Given the description of an element on the screen output the (x, y) to click on. 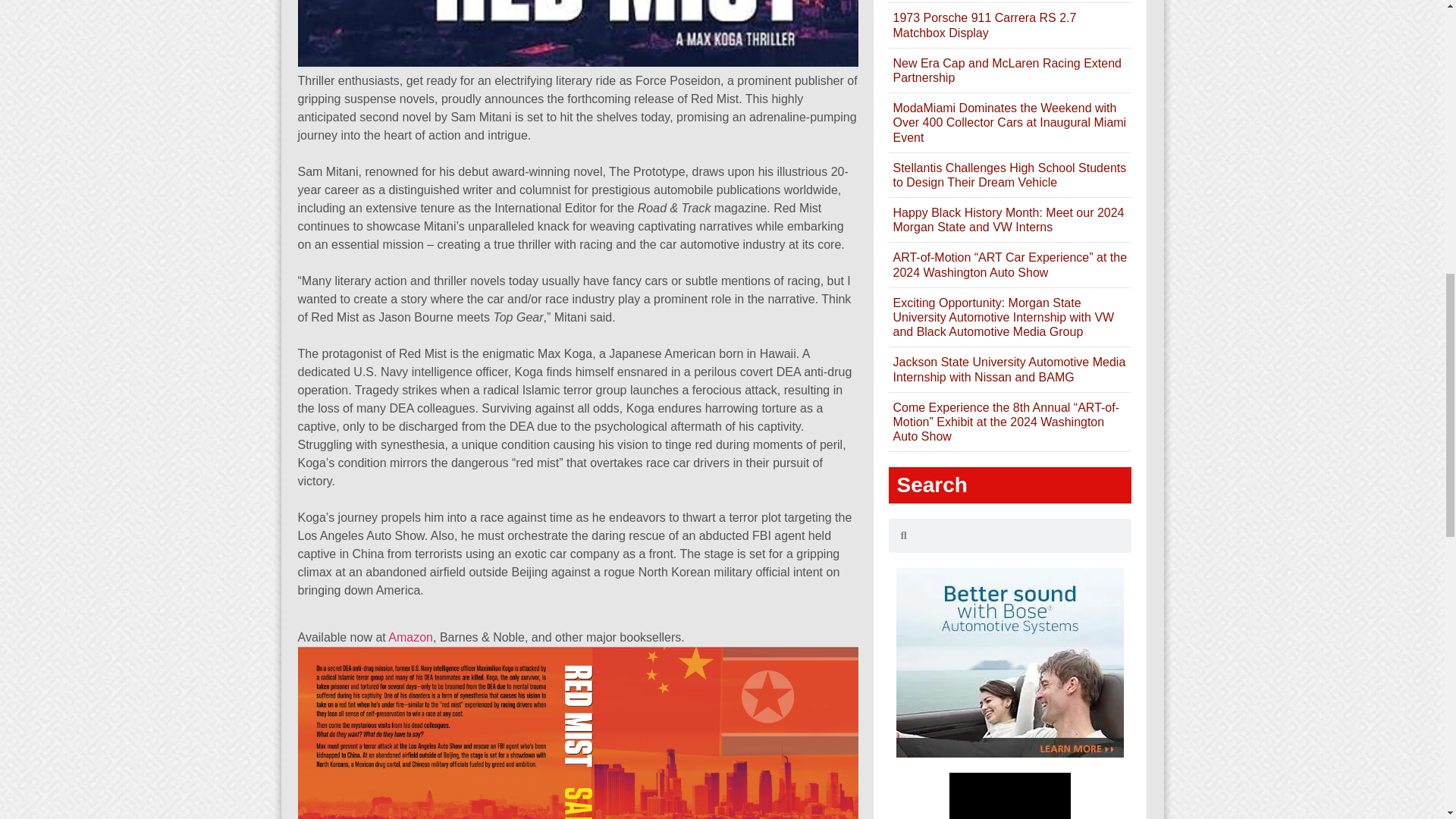
Amazon (410, 636)
